Given the description of an element on the screen output the (x, y) to click on. 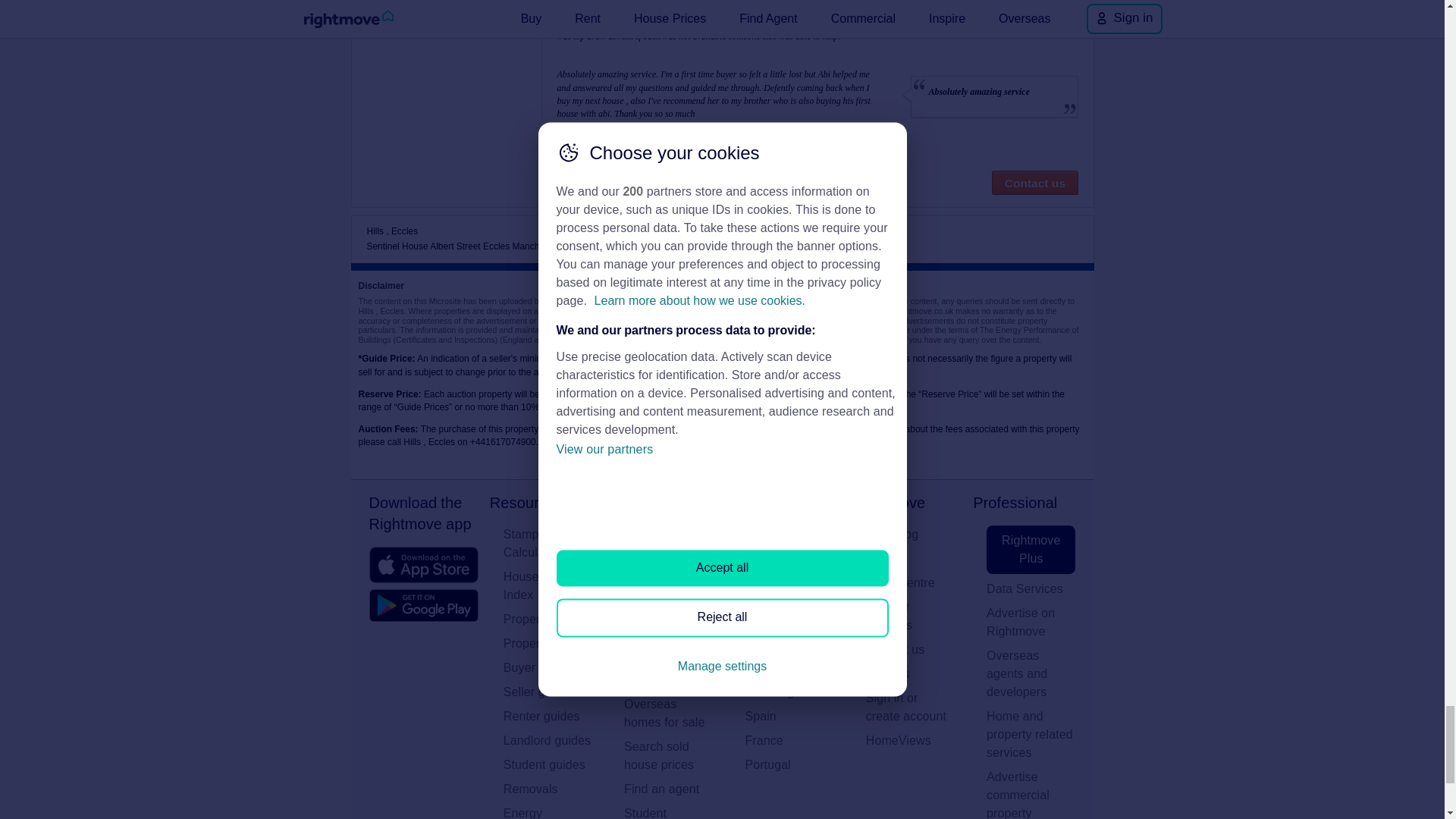
Stamp duty calculator (547, 543)
Property news (547, 643)
Property guides (547, 619)
Buyer guides (547, 668)
Seller guides (547, 692)
House price index (547, 586)
